Given the description of an element on the screen output the (x, y) to click on. 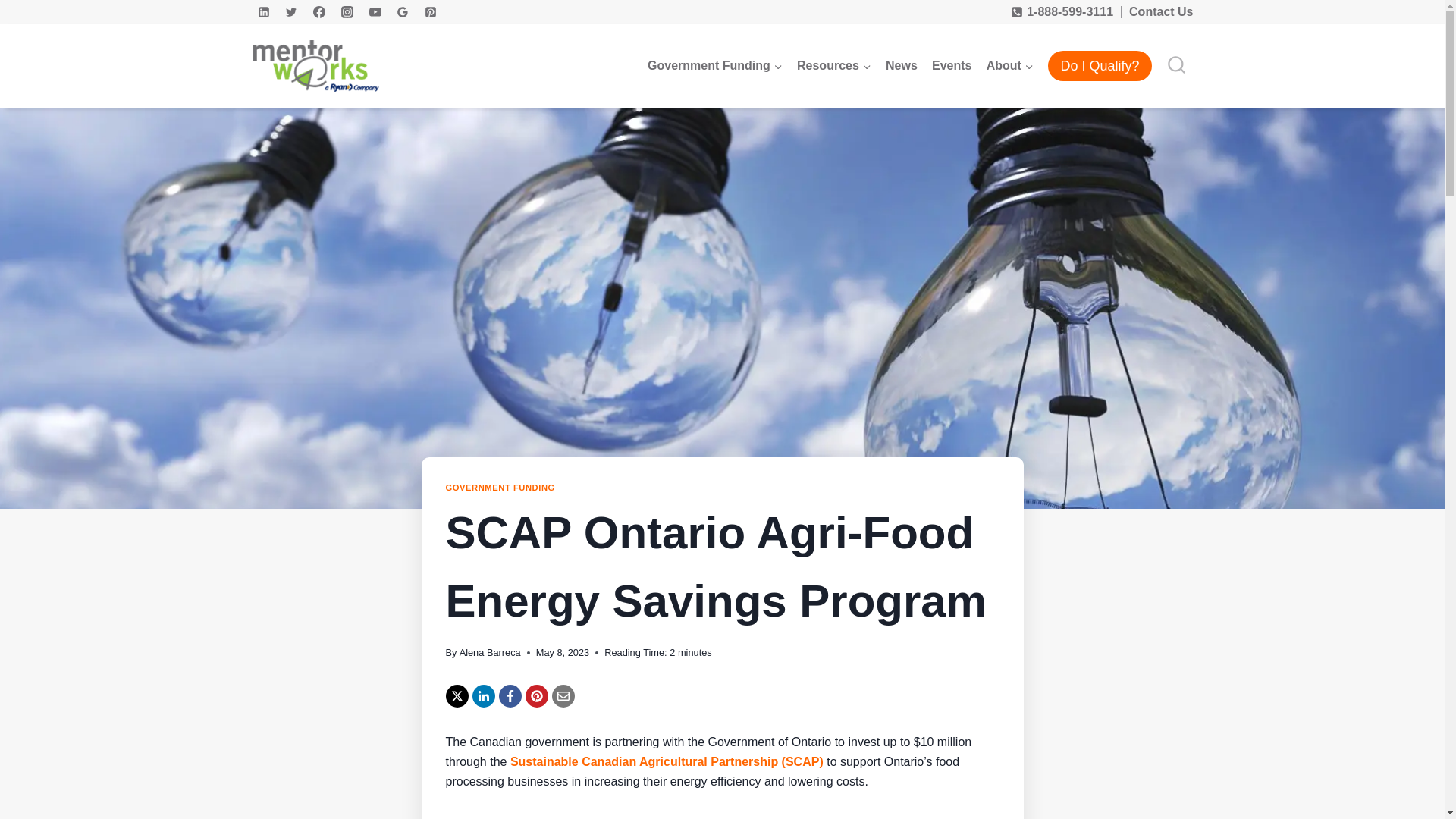
1-888-599-3111 (1061, 12)
Contact Us (1160, 11)
Alena Barreca (490, 652)
Government Funding (714, 66)
Resources (833, 66)
About (1009, 66)
News (900, 66)
GOVERNMENT FUNDING (499, 487)
Do I Qualify? (1099, 65)
Events (951, 66)
